Given the description of an element on the screen output the (x, y) to click on. 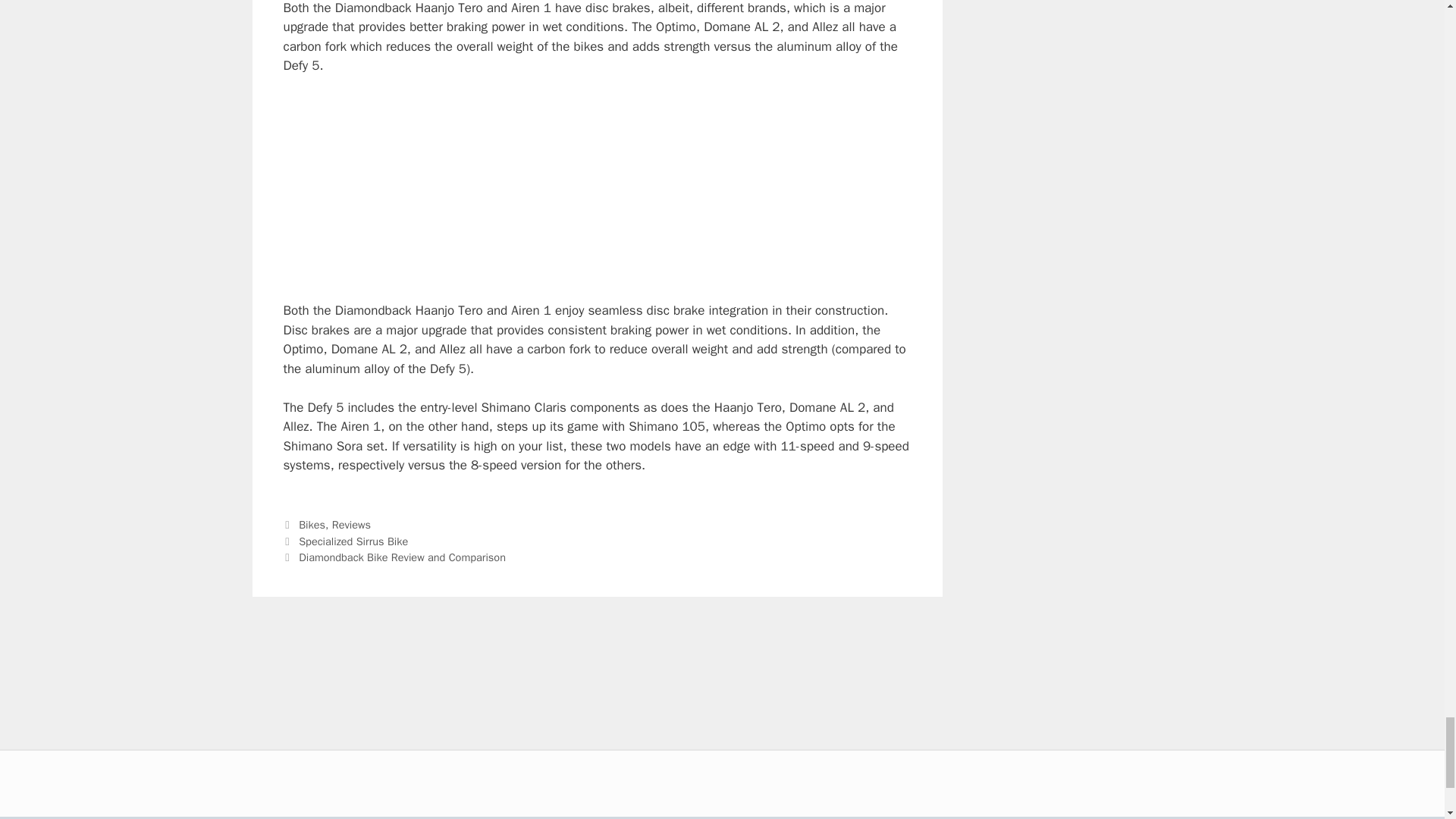
Bikes (311, 524)
Diamondback Bike Review and Comparison (401, 557)
Reviews (351, 524)
Specialized Sirrus Bike (352, 540)
